Given the description of an element on the screen output the (x, y) to click on. 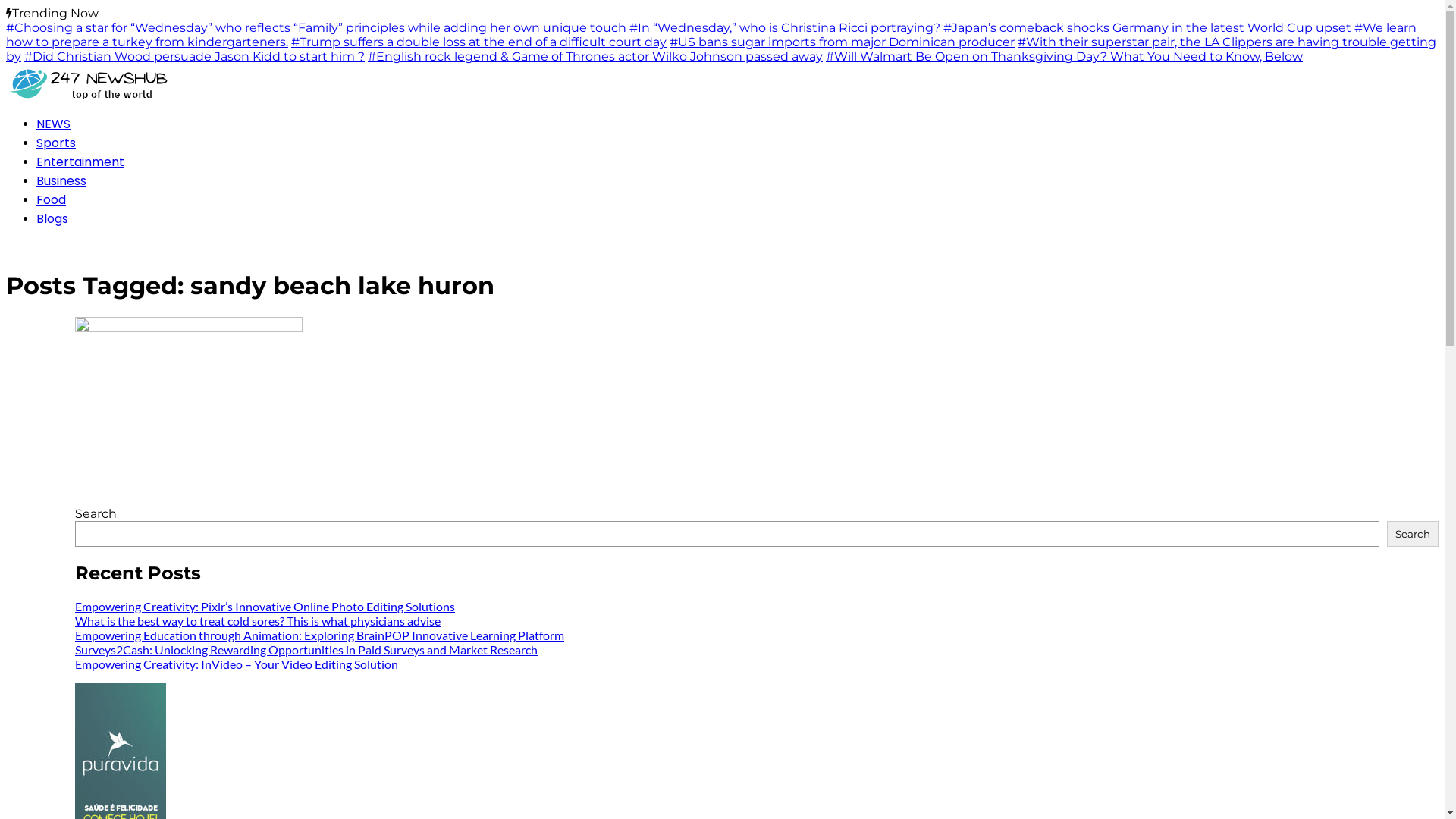
Search Element type: text (1412, 533)
Food Element type: text (50, 199)
Blogs Element type: text (52, 218)
NEWS Element type: text (53, 123)
Sports Element type: text (55, 142)
#US bans sugar imports from major Dominican producer Element type: text (841, 41)
#We learn how to prepare a turkey from kindergarteners. Element type: text (711, 34)
#Did Christian Wood persuade Jason Kidd to start him ? Element type: text (194, 56)
Business Element type: text (61, 180)
Entertainment Element type: text (80, 161)
